Given the description of an element on the screen output the (x, y) to click on. 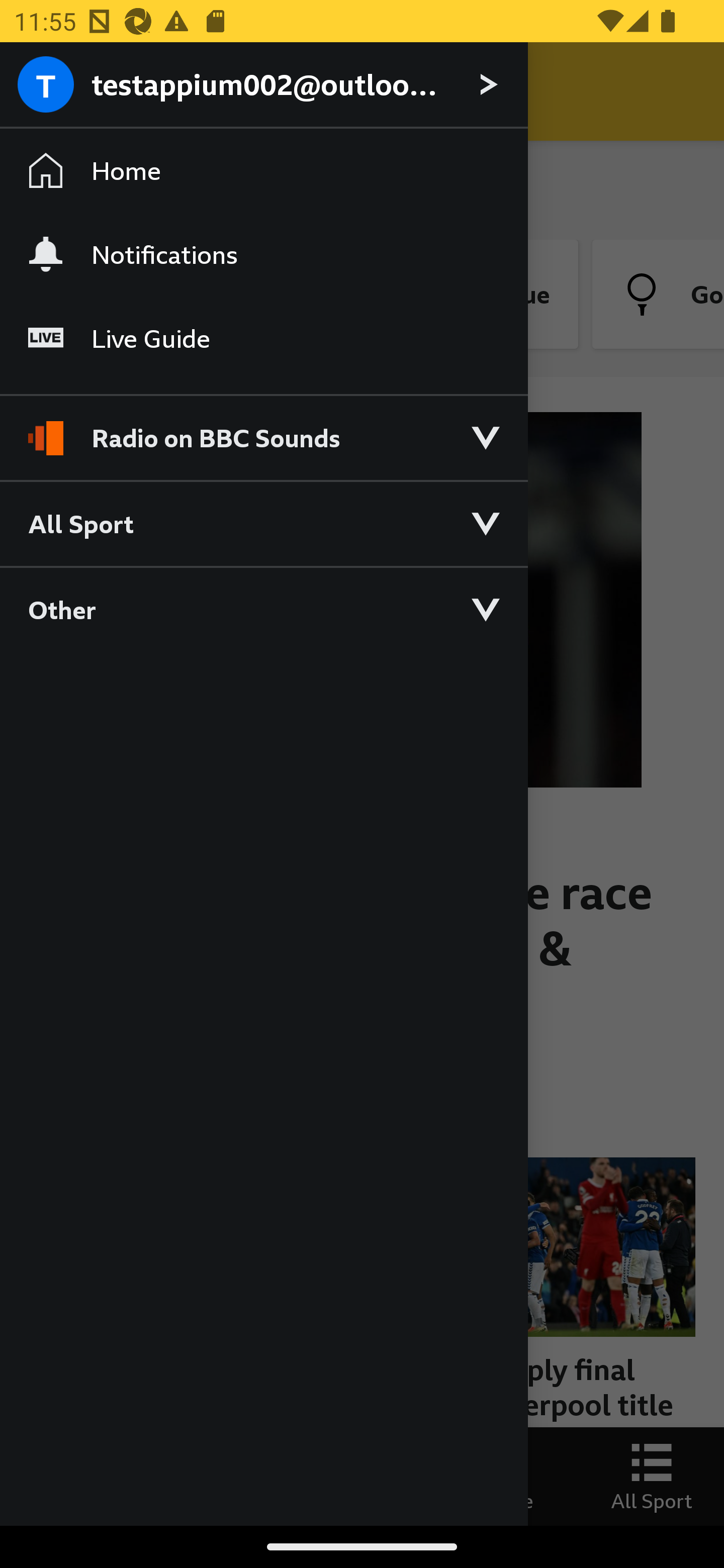
testappium002@outlook.com (263, 85)
Home (263, 170)
Notifications (263, 253)
Live Guide (263, 338)
Radio on BBC Sounds (263, 429)
All Sport (263, 522)
Other (263, 609)
